Given the description of an element on the screen output the (x, y) to click on. 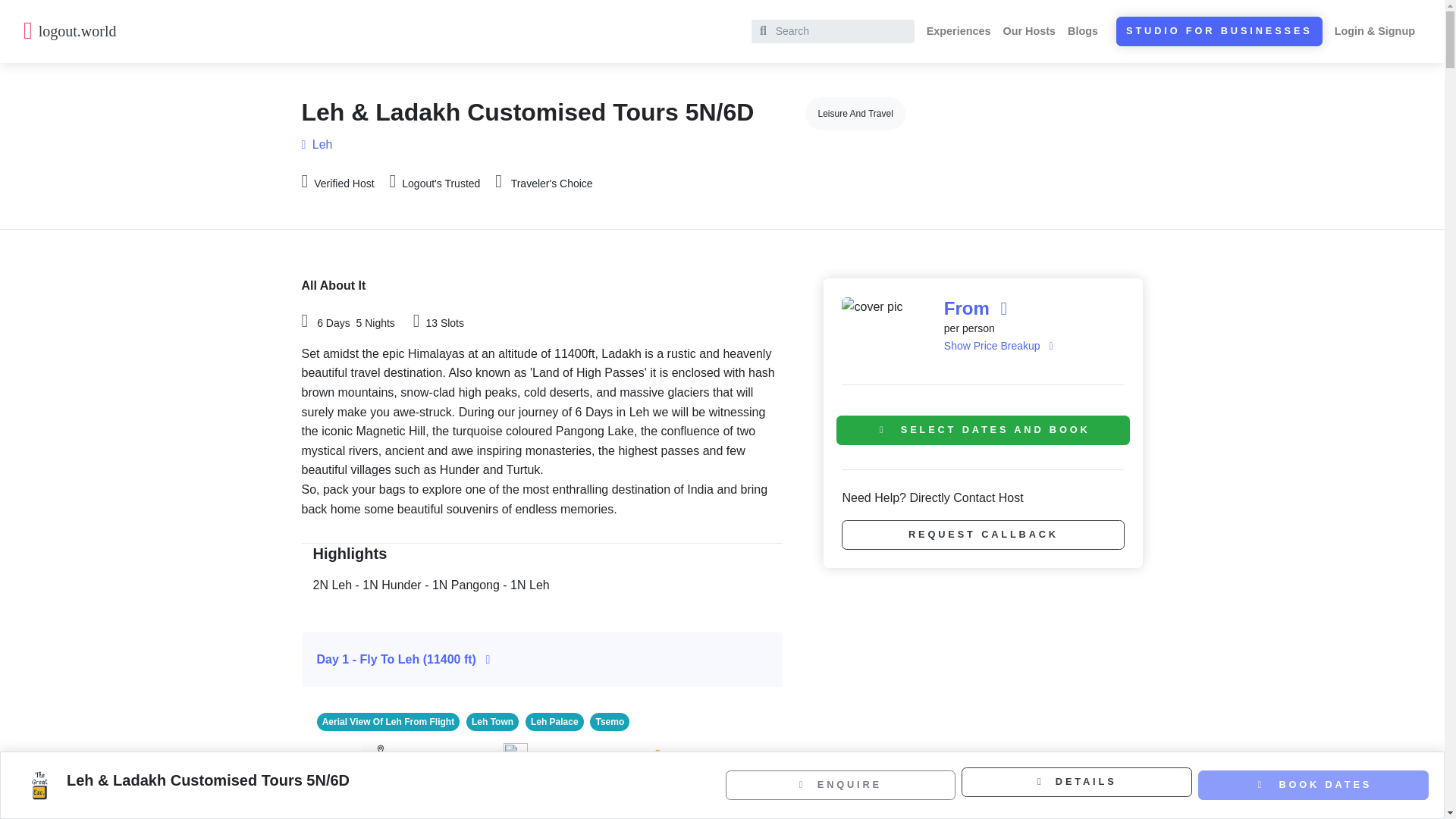
Experiences (958, 30)
Show Price Breakup (997, 345)
REQUEST CALLBACK (982, 534)
Blogs (1082, 30)
Our Hosts (1029, 30)
ENQUIRE (840, 785)
logout.world (81, 31)
BOOK DATES (1313, 784)
STUDIO FOR BUSINESSES (1219, 30)
